Given the description of an element on the screen output the (x, y) to click on. 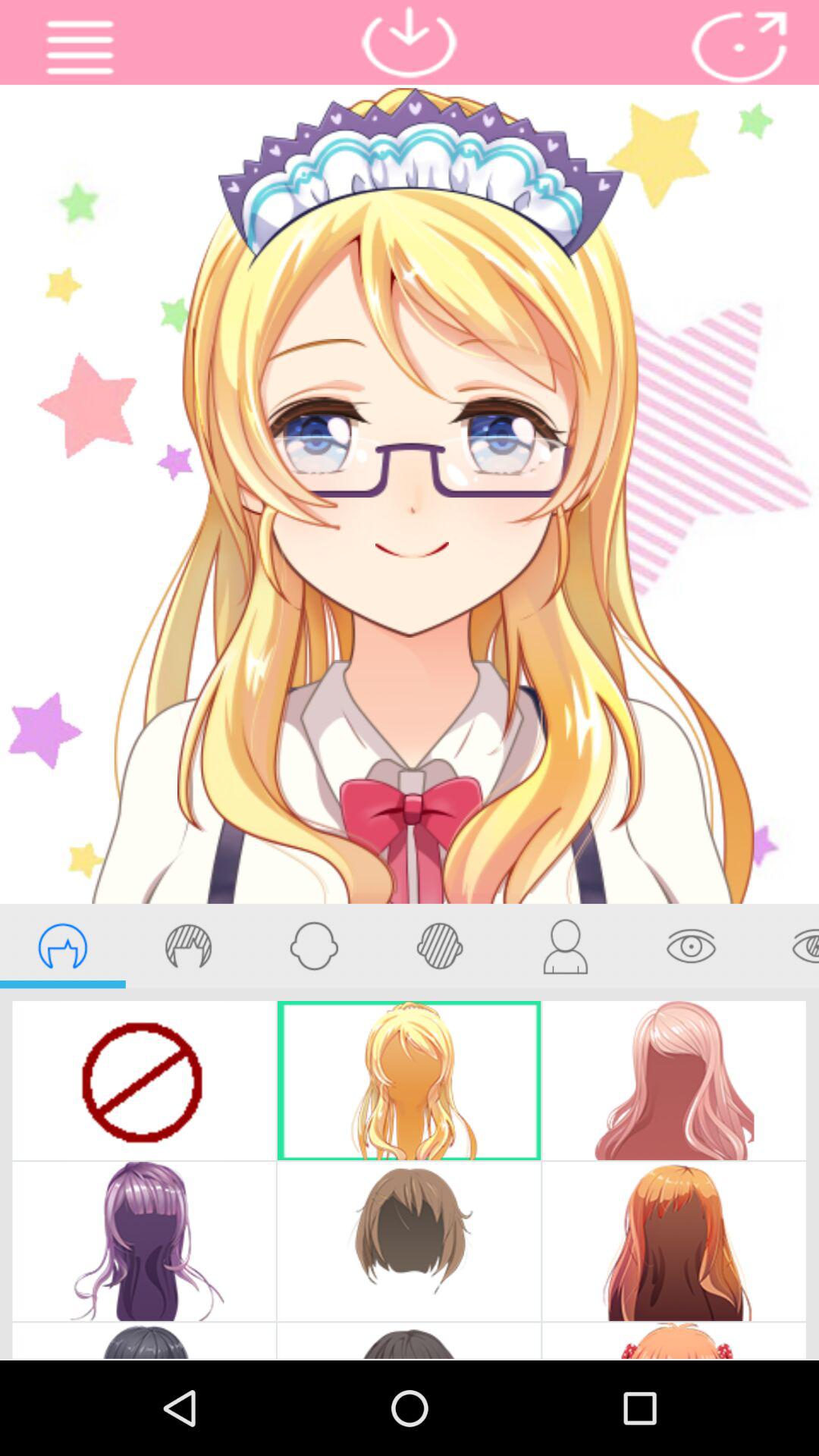
the symbol of hair style (188, 945)
